Given the description of an element on the screen output the (x, y) to click on. 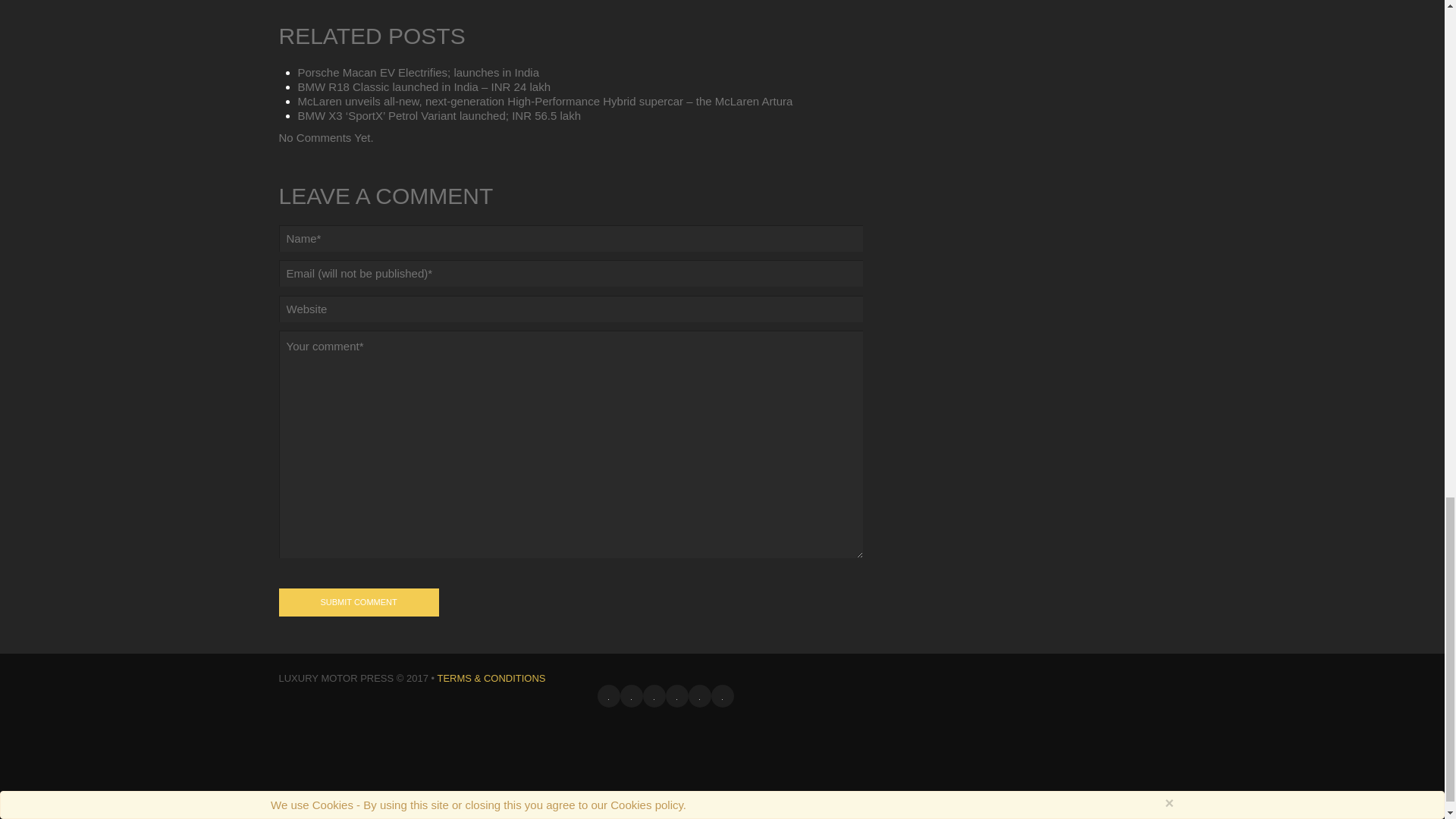
Website (571, 308)
Submit Comment (359, 602)
